Given the description of an element on the screen output the (x, y) to click on. 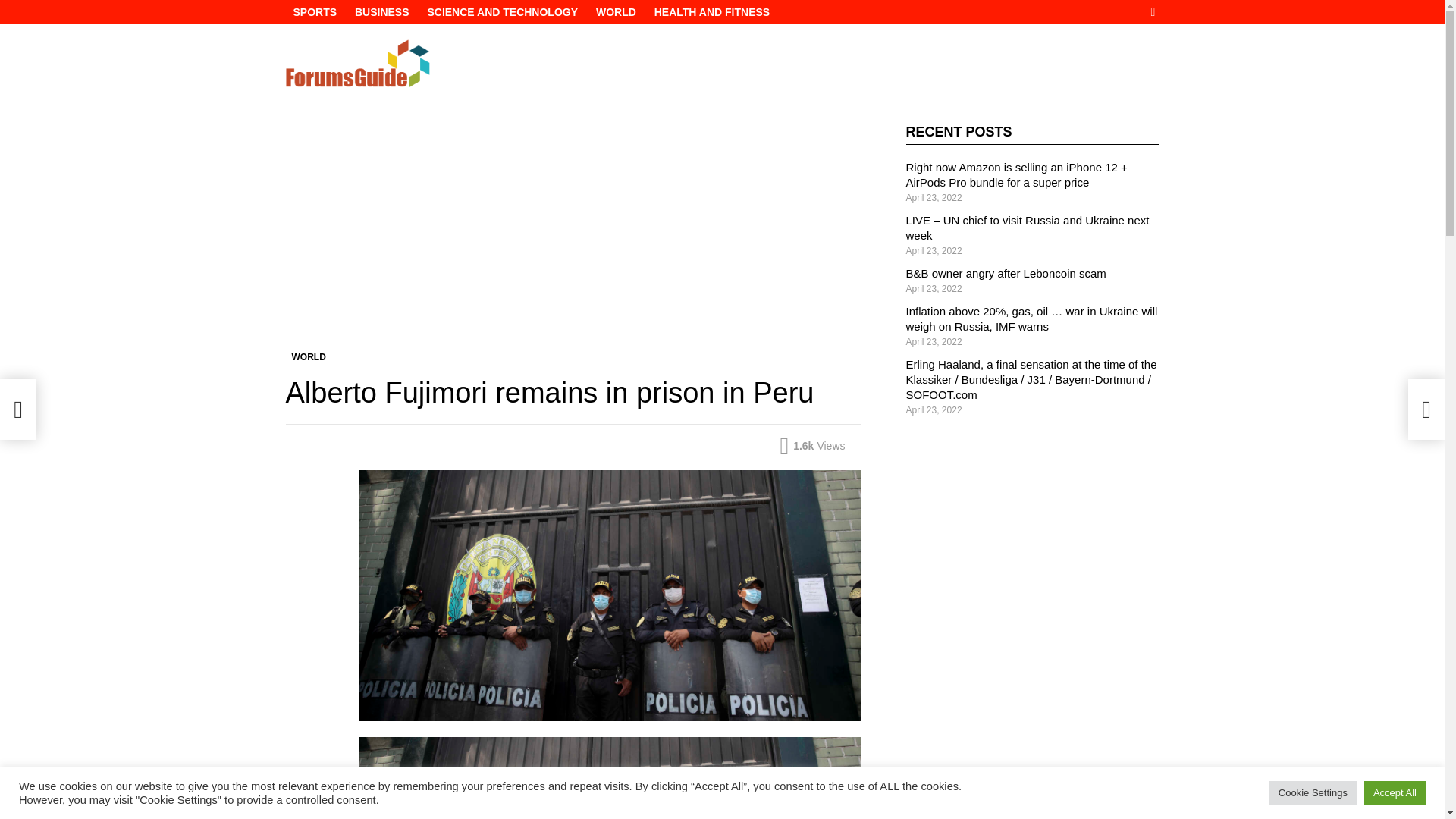
BUSINESS (381, 11)
Alberto Fujimori remains in prison in Peru (609, 778)
WORLD (615, 11)
Advertisement (572, 237)
Alberto Fujimori remains in prison in Peru (609, 595)
WORLD (308, 356)
Accept All (1394, 792)
Cookie Settings (1312, 792)
SCIENCE AND TECHNOLOGY (502, 11)
SPORTS (314, 11)
HEALTH AND FITNESS (711, 11)
